Given the description of an element on the screen output the (x, y) to click on. 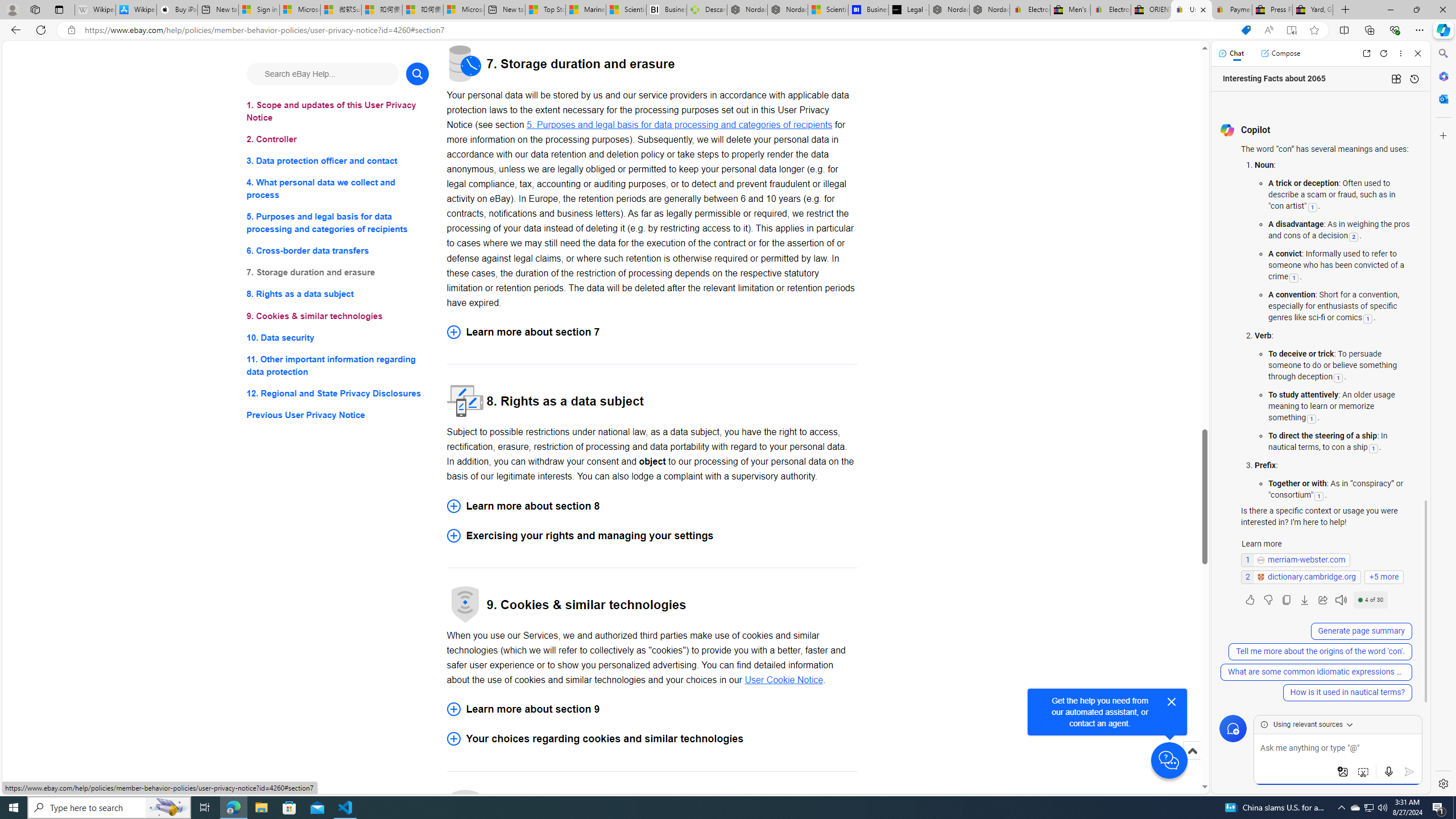
Compose (1280, 52)
Your choices regarding cookies and similar technologies (651, 738)
Open link in new tab (1366, 53)
User Privacy Notice | eBay (1191, 9)
6. Cross-border data transfers (337, 250)
Microsoft Services Agreement (299, 9)
7. Storage duration and erasure (337, 272)
Yard, Garden & Outdoor Living (1312, 9)
Scroll to top (1191, 750)
